Given the description of an element on the screen output the (x, y) to click on. 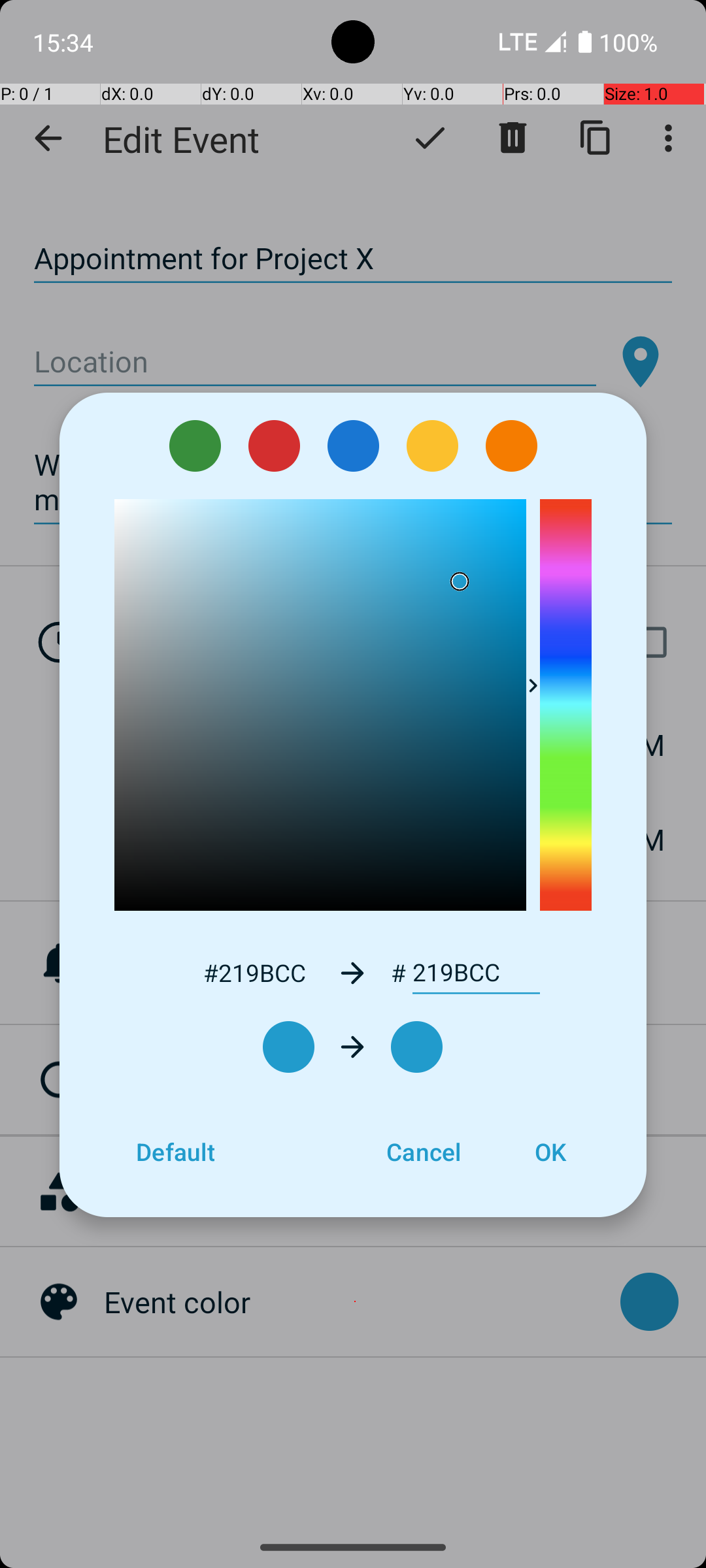
219BCC Element type: android.widget.EditText (475, 972)
